Given the description of an element on the screen output the (x, y) to click on. 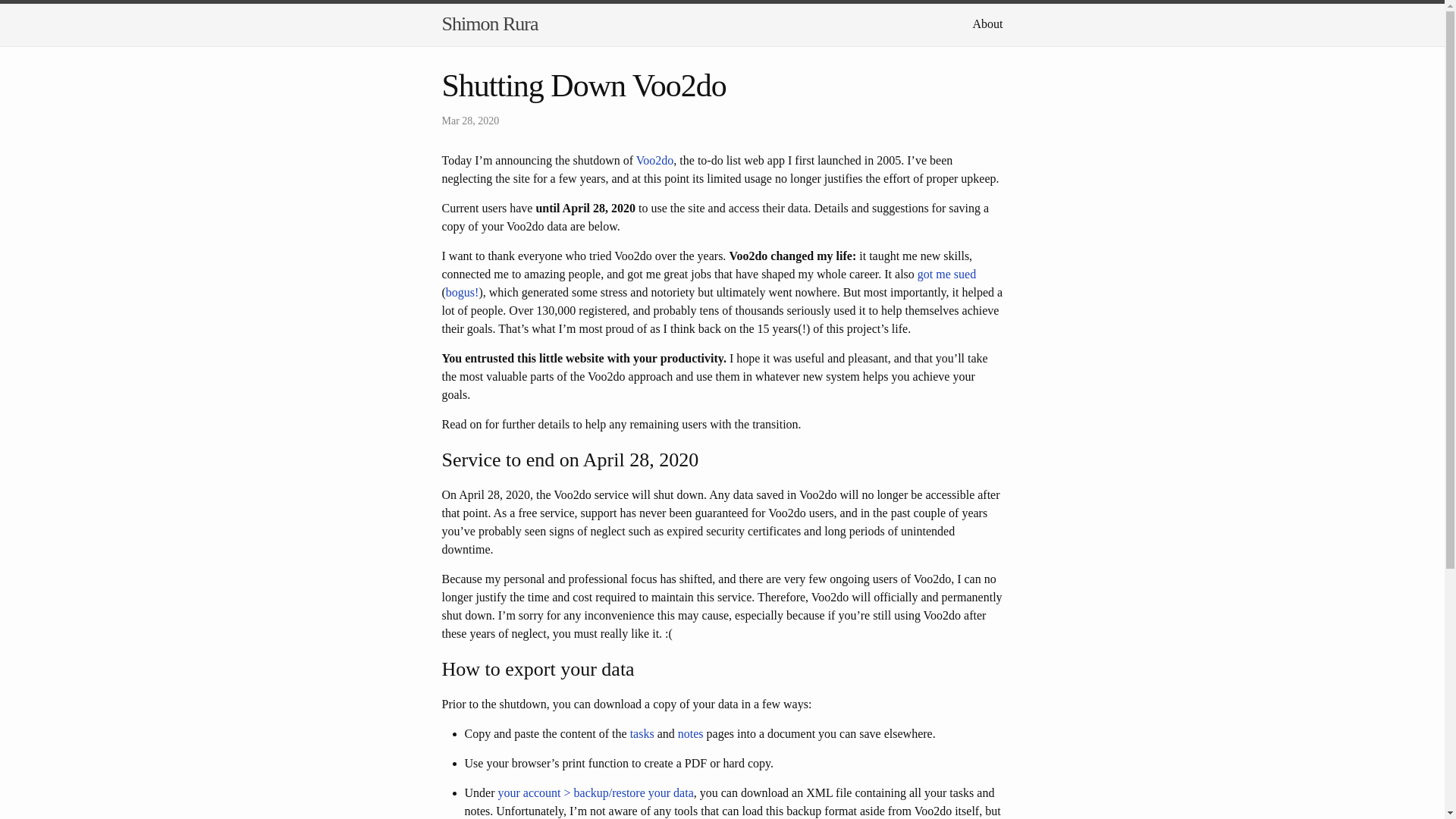
notes (690, 733)
tasks (641, 733)
got me sued (946, 273)
Voo2do (655, 160)
bogus! (462, 291)
Shimon Rura (489, 24)
About (987, 23)
